Given the description of an element on the screen output the (x, y) to click on. 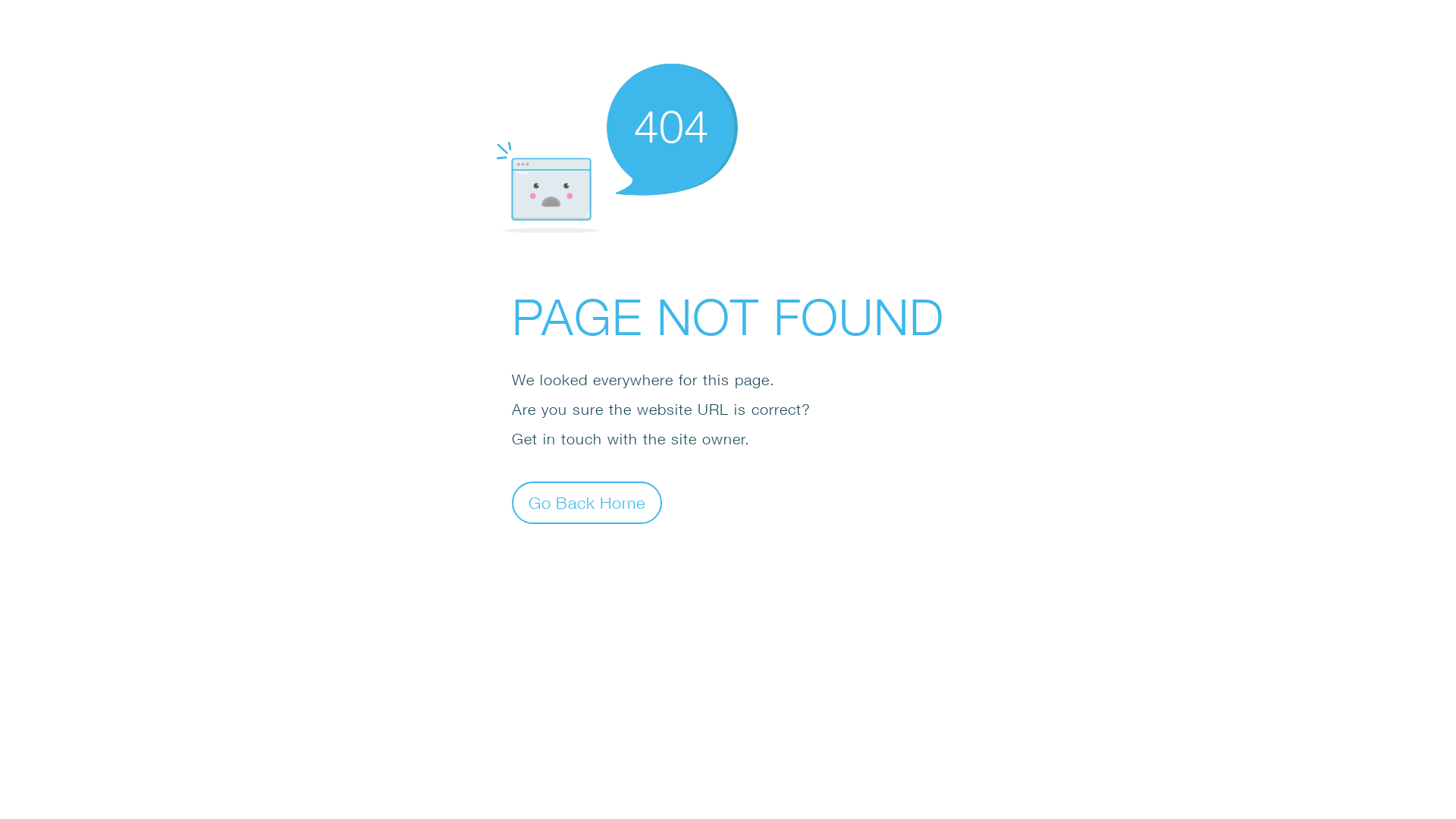
Go Back Home Element type: text (586, 502)
